Given the description of an element on the screen output the (x, y) to click on. 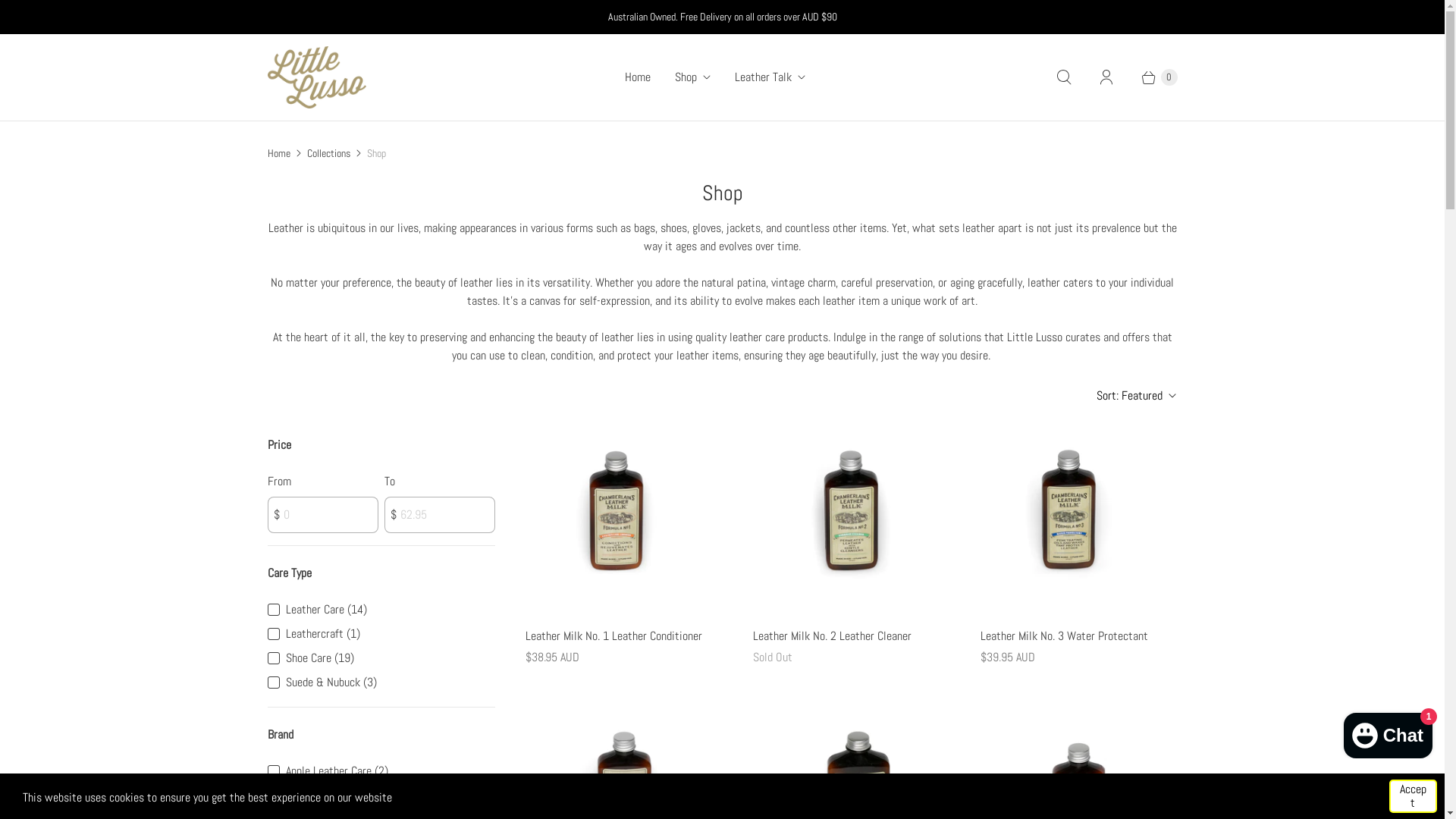
Leather Care (14) Element type: text (325, 609)
Suede & Nubuck (3) Element type: text (330, 682)
Collections Element type: text (327, 153)
Shoe Care (19) Element type: text (319, 658)
Leather Milk No. 1 Leather Conditioner Element type: text (622, 636)
Apple Leather Care (2) Element type: text (336, 771)
Cadillac Professional (2) Element type: text (341, 795)
Leather Milk No. 2 Leather Cleaner Element type: text (850, 636)
Shopify online store chat Element type: hover (1388, 732)
0 Element type: text (1151, 77)
Accept Element type: text (1413, 796)
Leather Milk No. 3 Water Protectant Element type: text (1077, 636)
Sort: Featured Element type: text (1135, 395)
Home Element type: text (277, 153)
Leathercraft (1) Element type: text (322, 633)
Home Element type: text (637, 77)
